Given the description of an element on the screen output the (x, y) to click on. 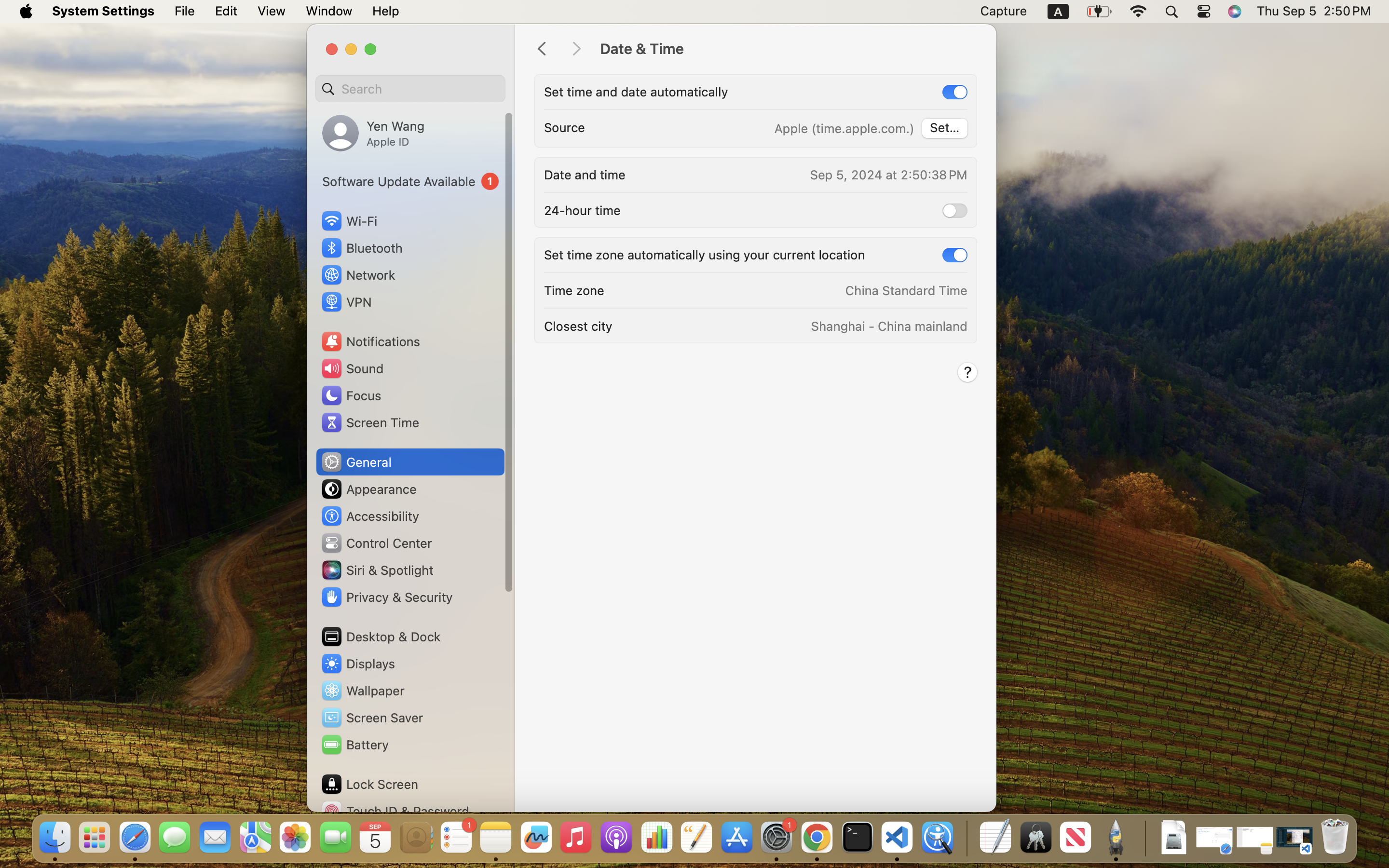
China Standard Time Element type: AXStaticText (906, 290)
Set time and date automatically Element type: AXStaticText (636, 91)
Displays Element type: AXStaticText (357, 663)
Closest city Element type: AXStaticText (578, 325)
Apple (time.apple.com.) Element type: AXStaticText (843, 127)
